Given the description of an element on the screen output the (x, y) to click on. 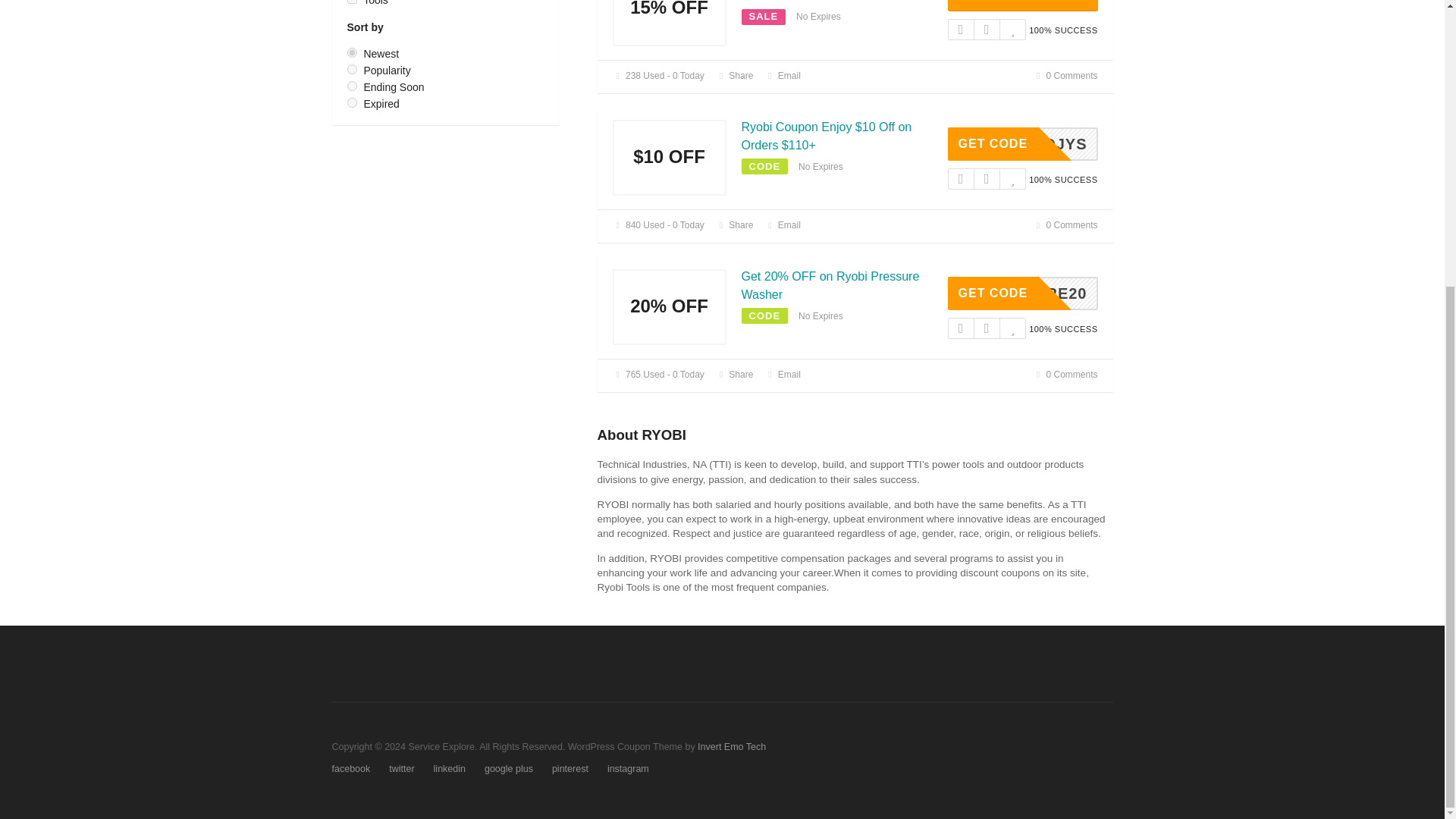
Share it with your friend (1022, 143)
newest (735, 225)
Coupon Comments (351, 52)
expired (1064, 75)
popularity (351, 102)
ending-soon (351, 69)
Share (351, 85)
0 Comments (735, 75)
Email (1064, 225)
Send this coupon to an email (782, 75)
Share (782, 75)
Email (735, 225)
Share it with your friend (782, 225)
GET DEAL (735, 75)
